Given the description of an element on the screen output the (x, y) to click on. 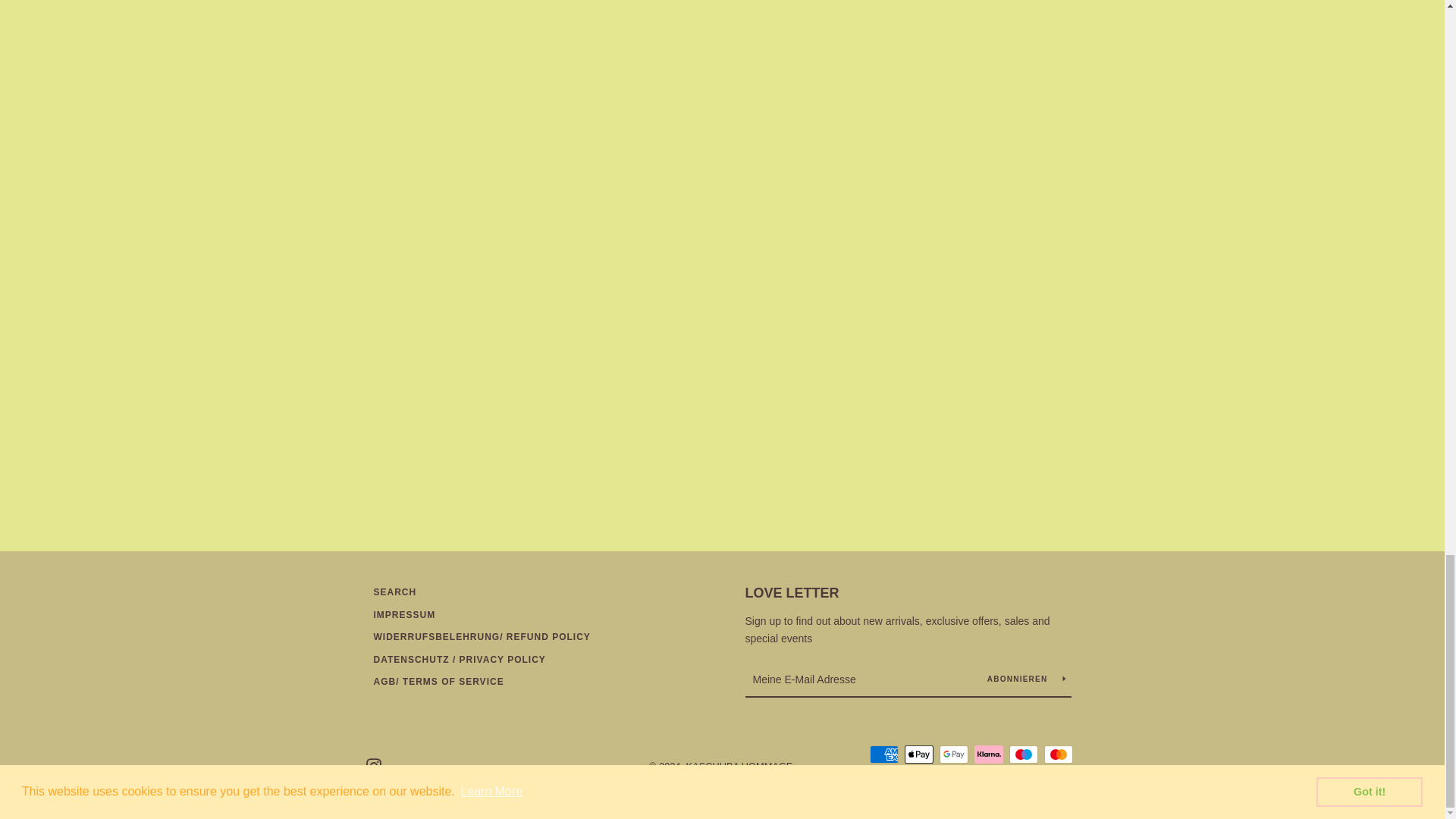
SOFORT (988, 777)
SEARCH (394, 592)
Maestro (1022, 754)
American Express (883, 754)
Shop Pay (953, 777)
Union Pay (1022, 777)
Apple Pay (918, 754)
PayPal (918, 777)
Mastercard (1057, 754)
KASCHUBA HOMMAGE auf Instagram (372, 765)
